Given the description of an element on the screen output the (x, y) to click on. 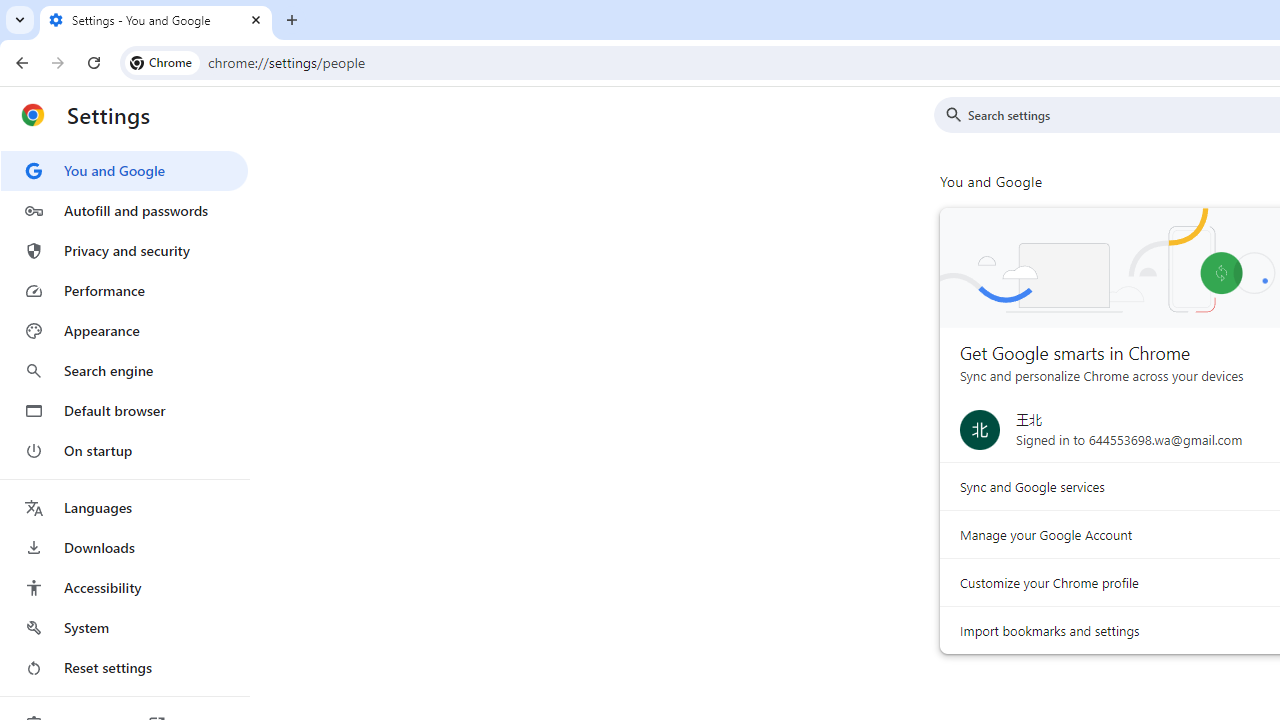
You and Google (124, 170)
Performance (124, 290)
Accessibility (124, 587)
Reset settings (124, 668)
Default browser (124, 410)
Autofill and passwords (124, 210)
Appearance (124, 331)
On startup (124, 450)
Privacy and security (124, 250)
Downloads (124, 547)
